Given the description of an element on the screen output the (x, y) to click on. 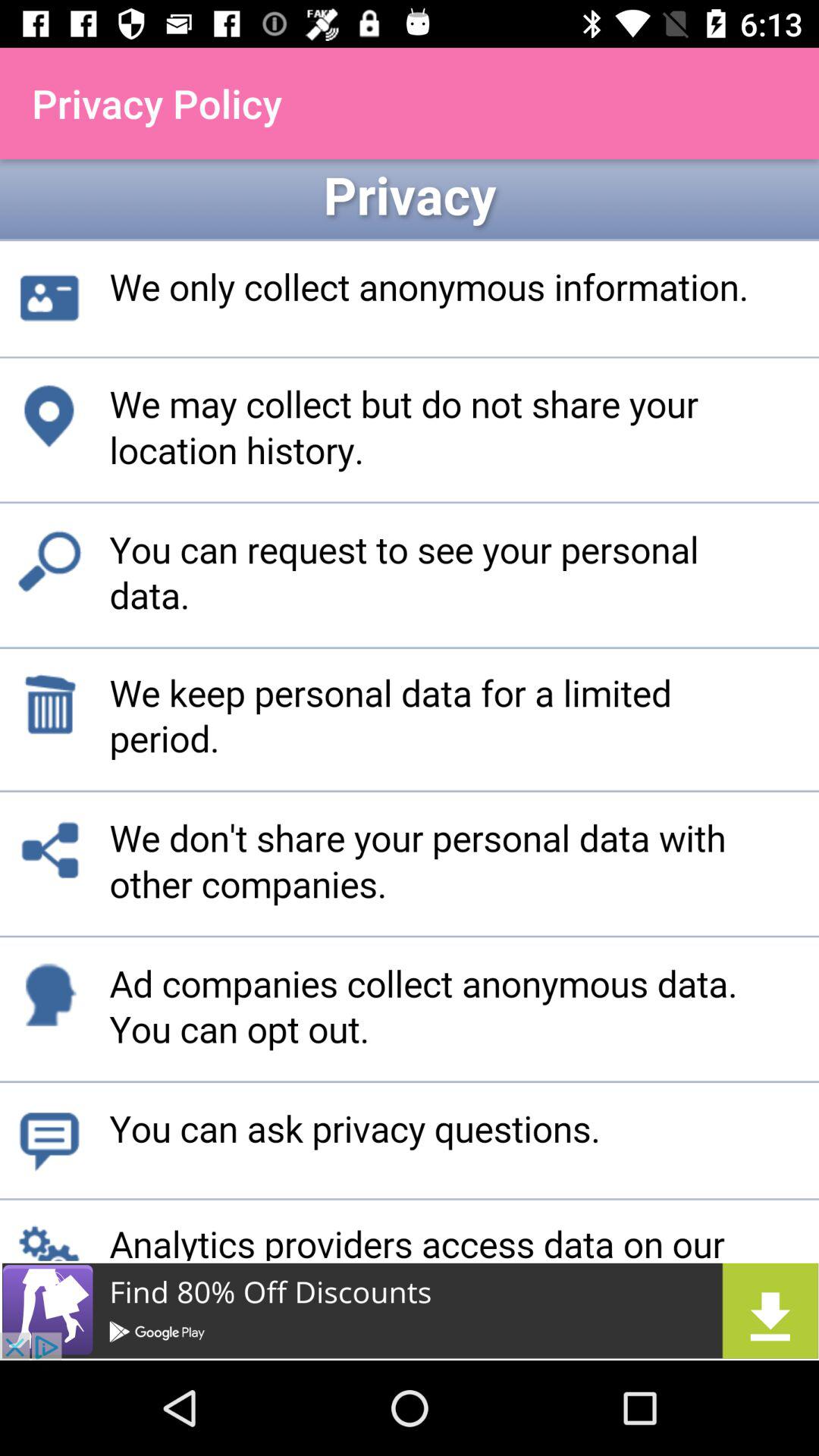
open advertisement (409, 1310)
